Given the description of an element on the screen output the (x, y) to click on. 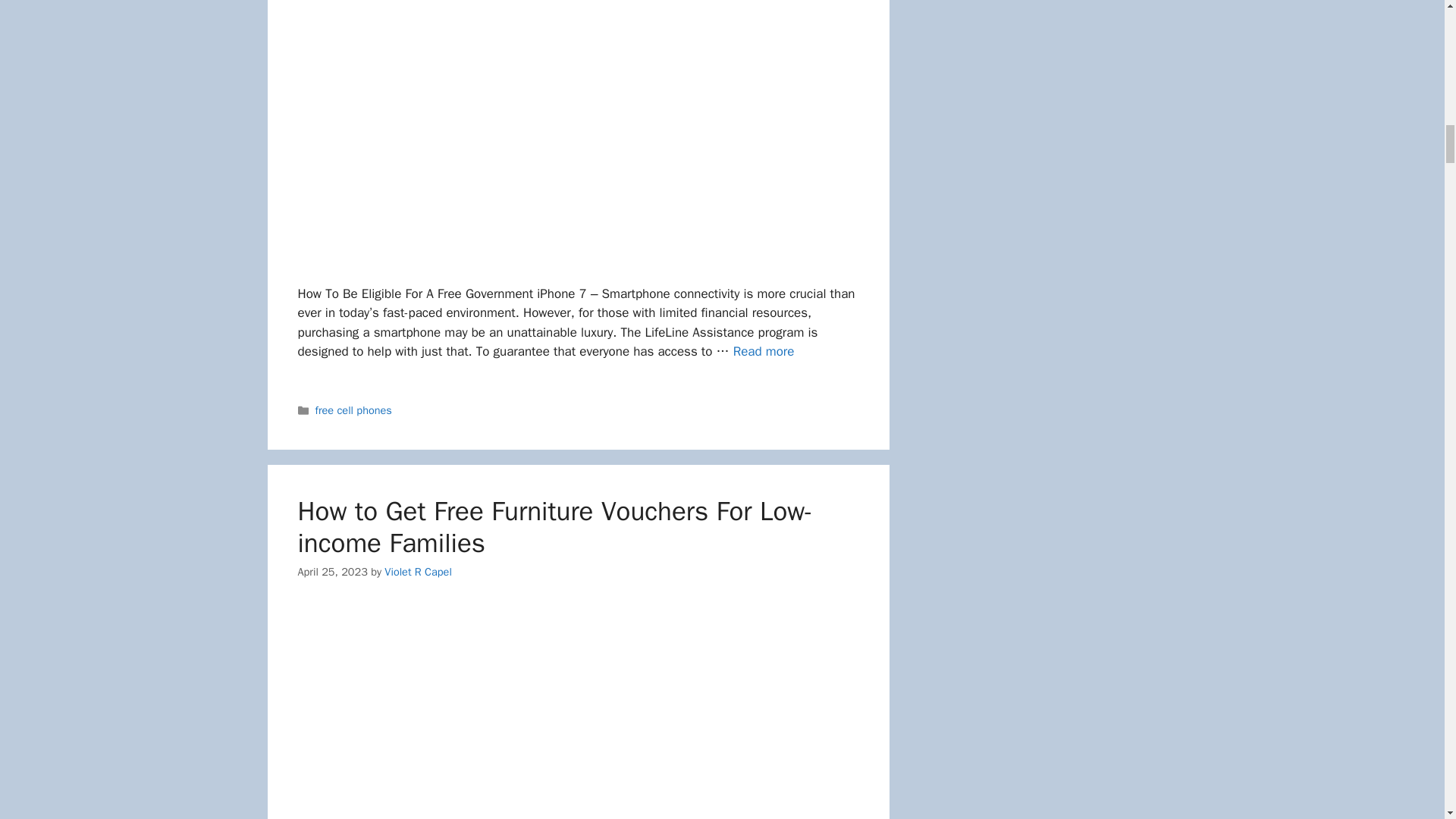
How to get Free Government iPhone 7 (763, 351)
